Given the description of an element on the screen output the (x, y) to click on. 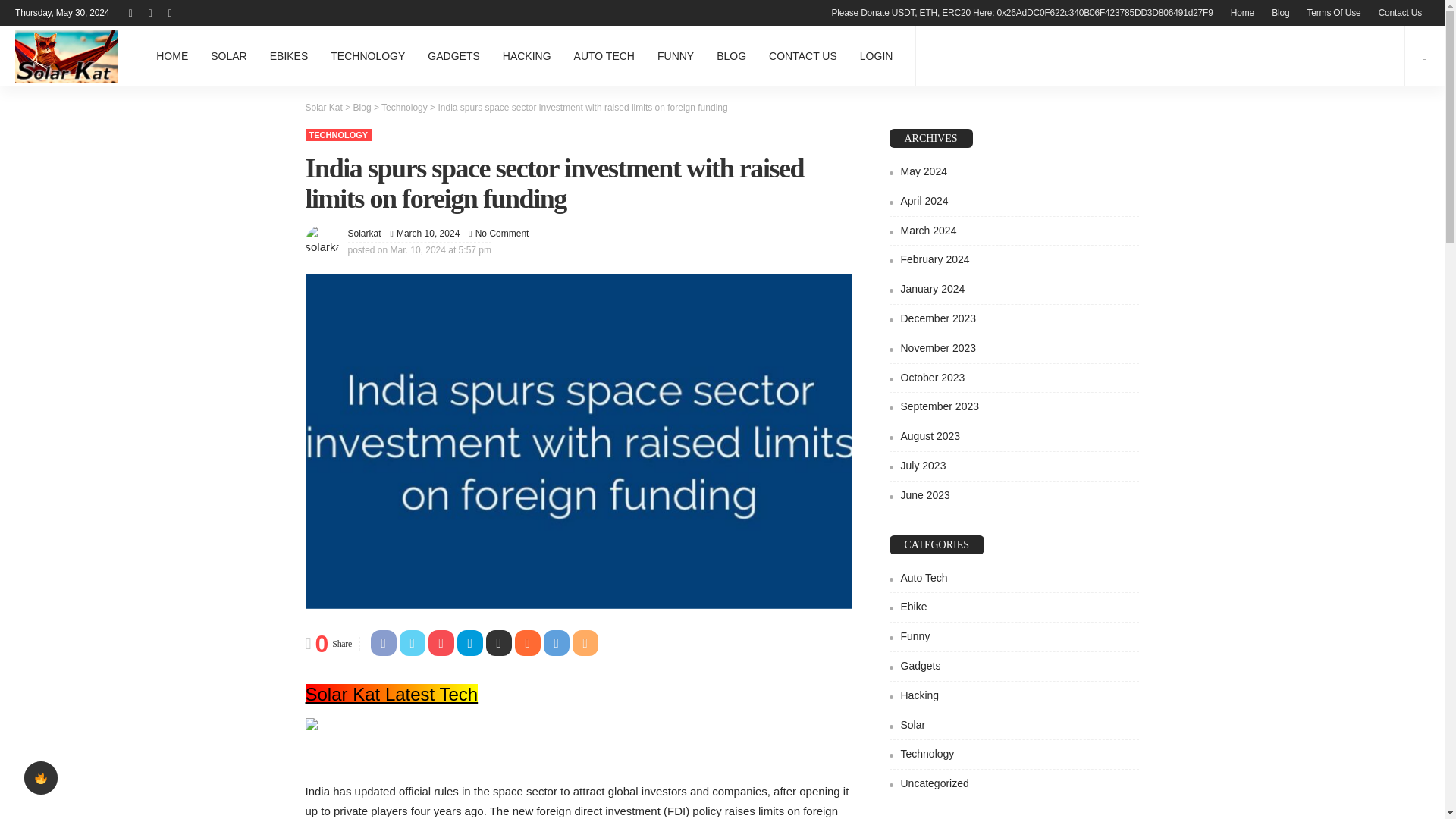
Blog (1280, 12)
Solar Kat (65, 55)
Contact Us (1400, 12)
Go to Blog. (362, 107)
SOLAR (228, 55)
AUTO TECH (604, 55)
Technology (337, 134)
Terms Of Use (1334, 12)
FUNNY (675, 55)
Home (1242, 12)
GADGETS (453, 55)
HACKING (527, 55)
HOME (171, 55)
TECHNOLOGY (367, 55)
